Given the description of an element on the screen output the (x, y) to click on. 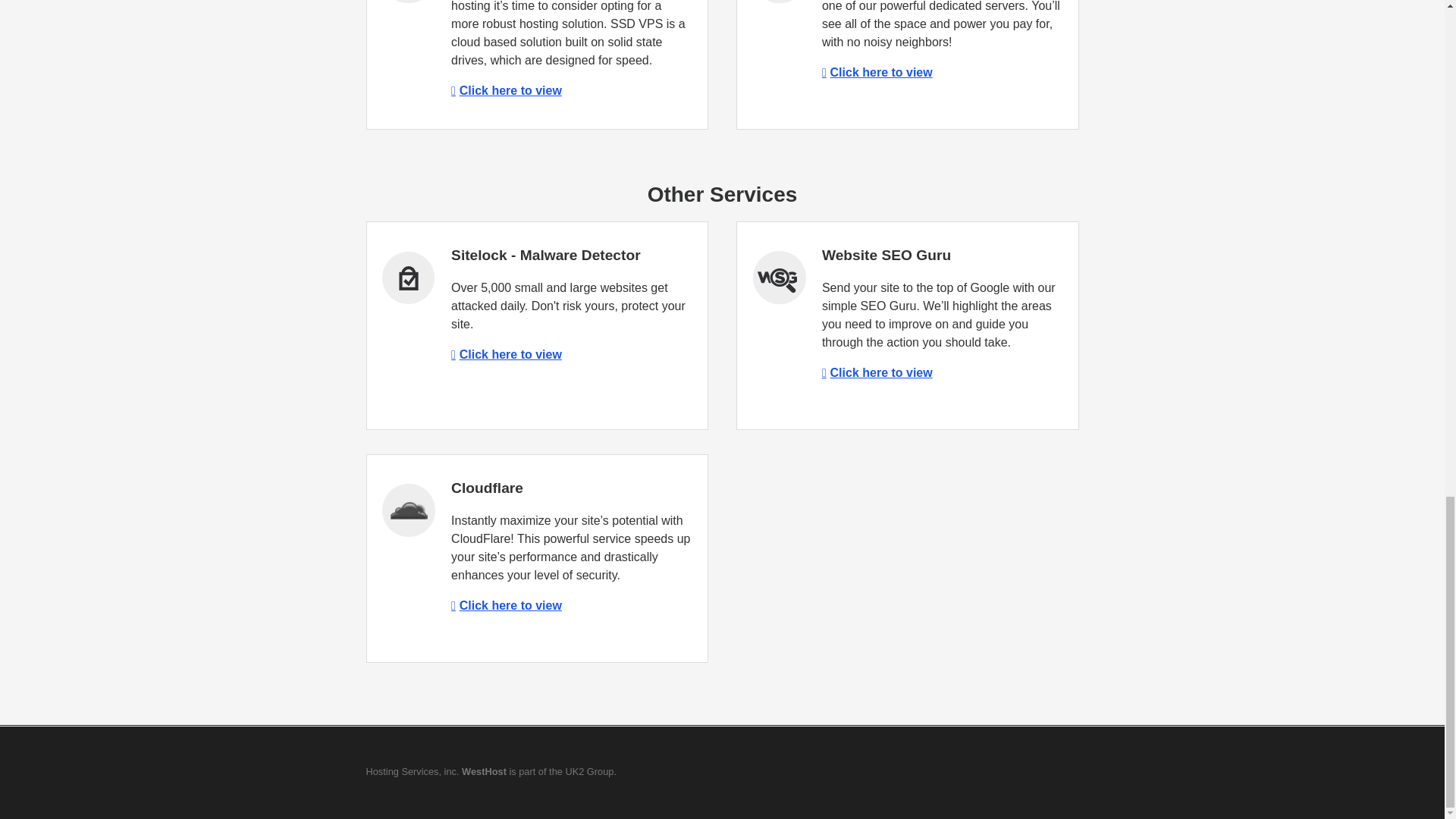
Click here to view (506, 90)
Click here to view (877, 72)
Click here to view (506, 354)
WestHost (483, 771)
Click here to view (877, 372)
Click here to view (506, 604)
